Given the description of an element on the screen output the (x, y) to click on. 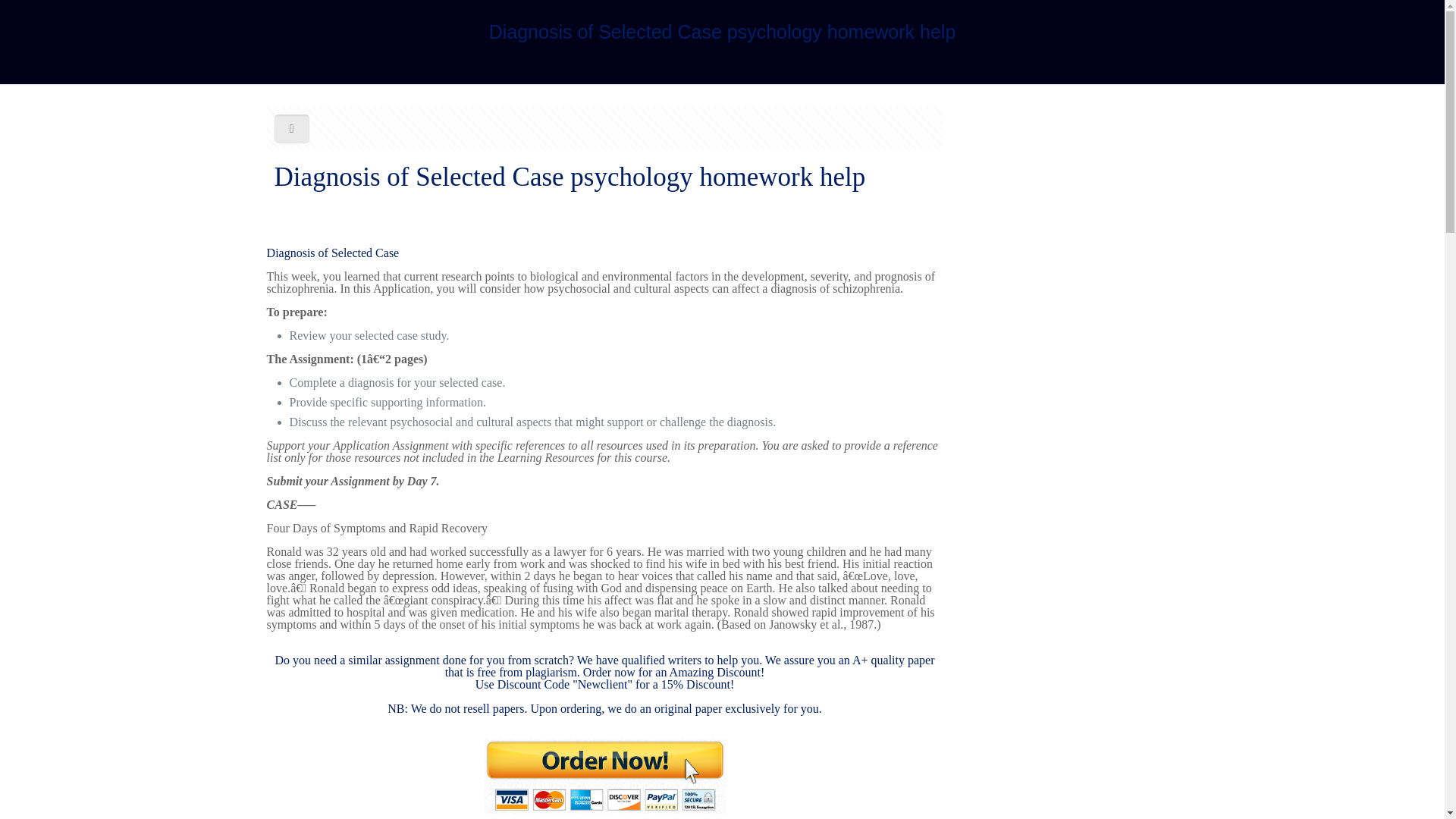
Uncategorized (601, 54)
Home (516, 54)
Diagnosis of Selected Case psychology homework help (807, 54)
